Given the description of an element on the screen output the (x, y) to click on. 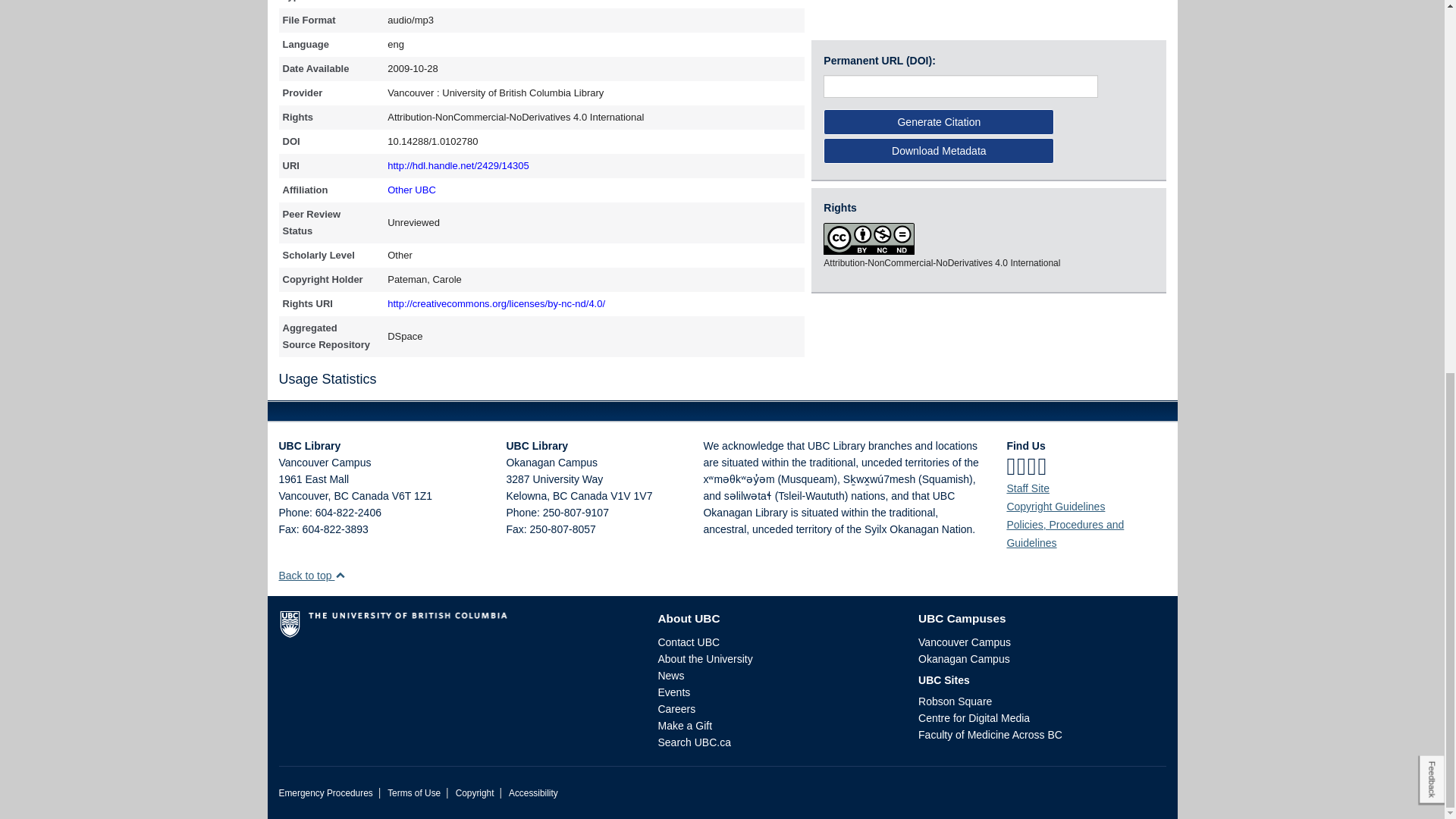
British Columbia (340, 495)
British Columbia (560, 495)
